Given the description of an element on the screen output the (x, y) to click on. 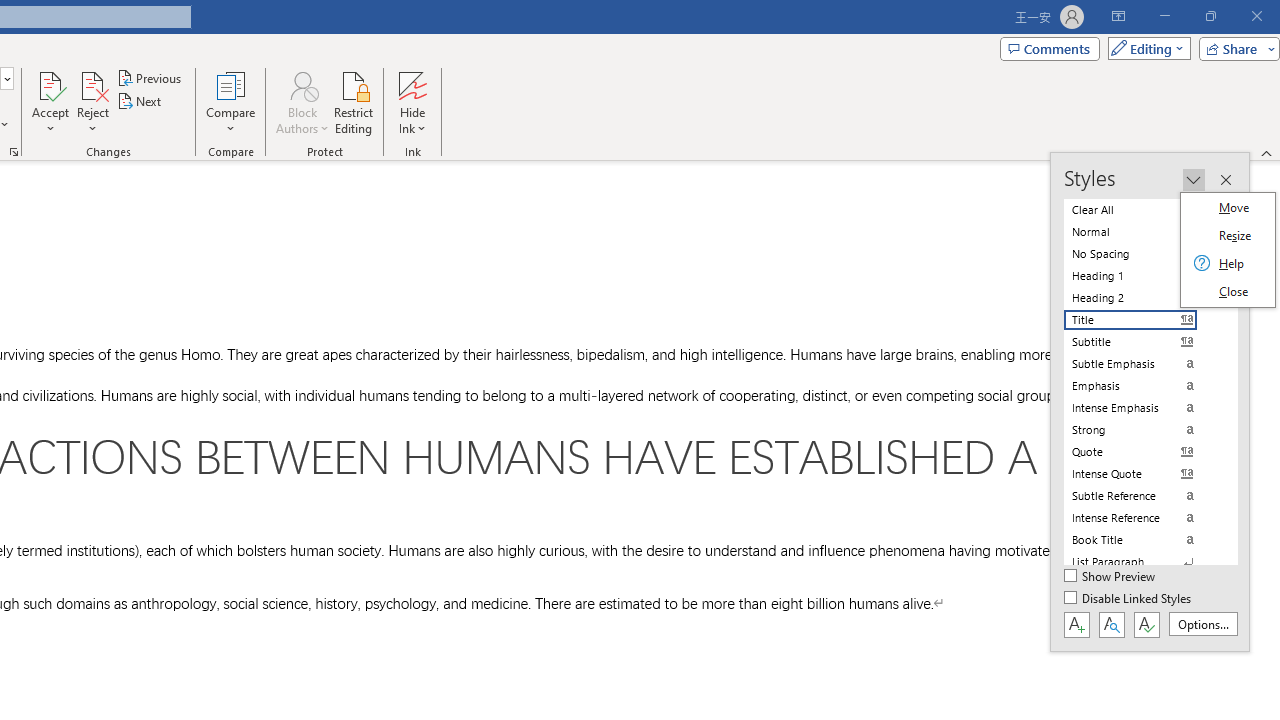
Book Title (1142, 539)
Class: NetUIButton (1146, 624)
Intense Quote (1142, 473)
Class: Net UI Tool Window (1228, 250)
Emphasis (1142, 385)
Hide Ink (412, 102)
Quote (1142, 451)
Compare (230, 102)
